Given the description of an element on the screen output the (x, y) to click on. 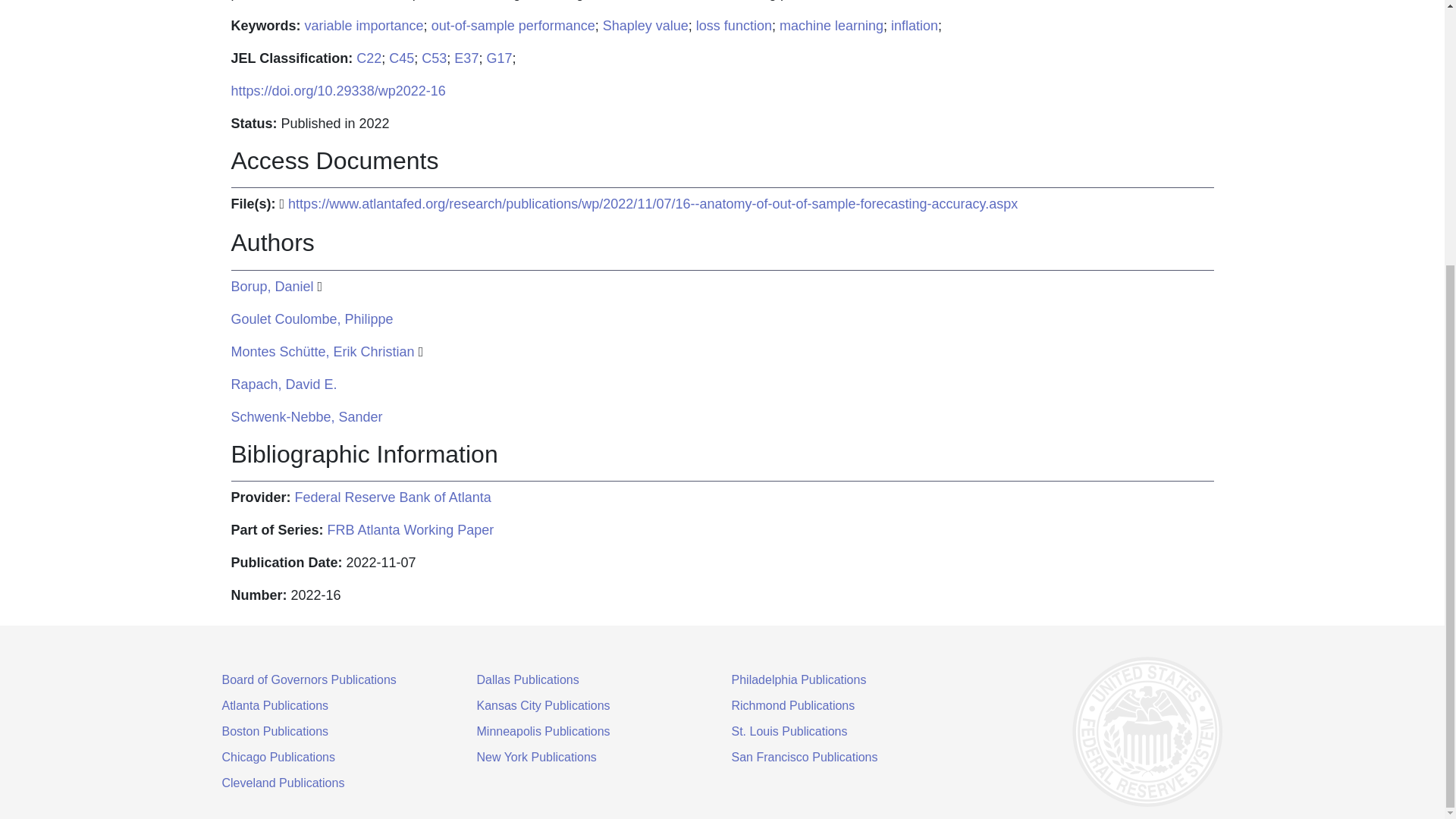
variable importance (363, 25)
machine learning (830, 25)
loss function (733, 25)
inflation (914, 25)
out-of-sample performance (512, 25)
Shapley value (645, 25)
